Given the description of an element on the screen output the (x, y) to click on. 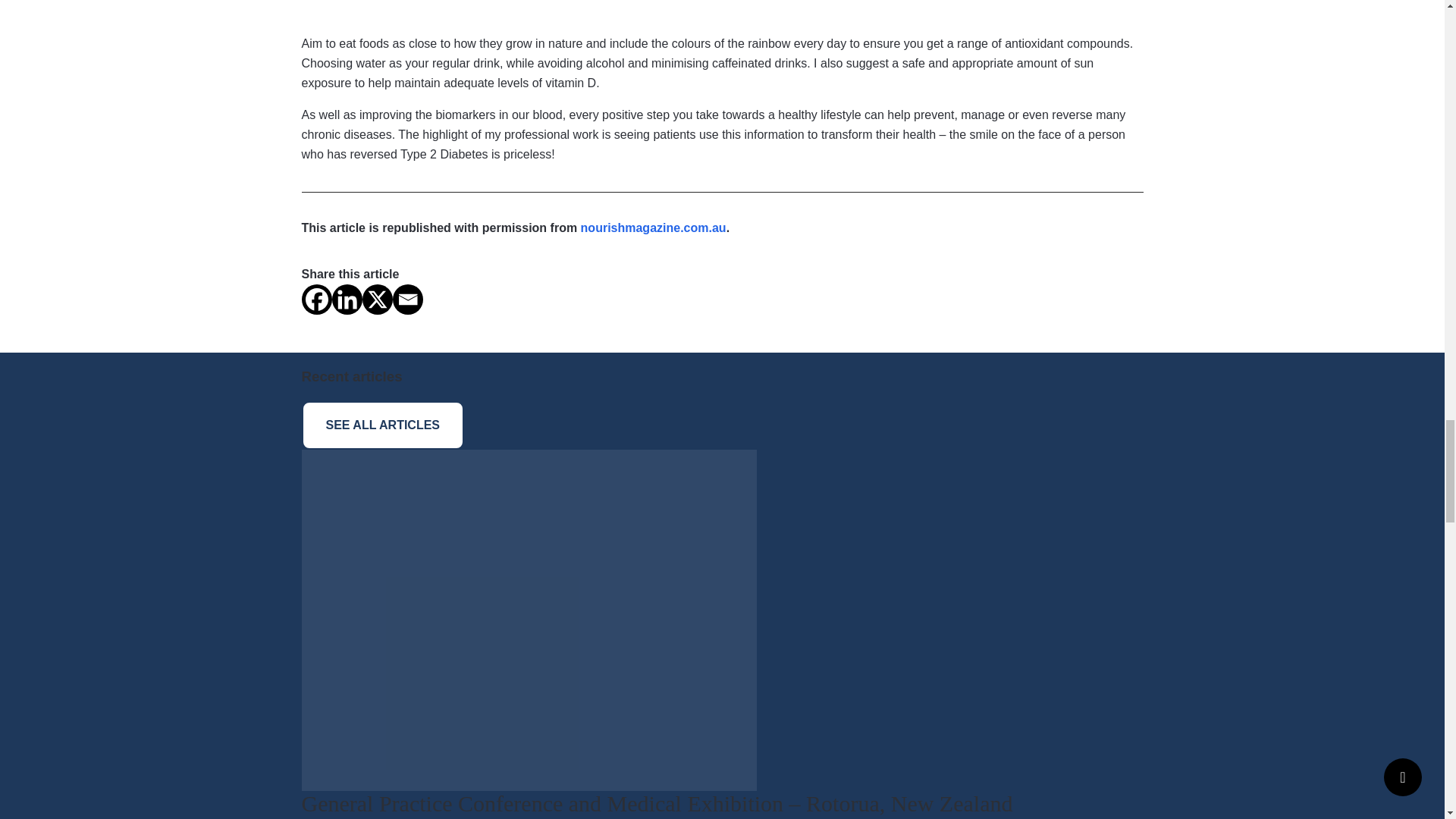
Linkedin (346, 299)
X (377, 299)
Facebook (316, 299)
Email (408, 299)
